Given the description of an element on the screen output the (x, y) to click on. 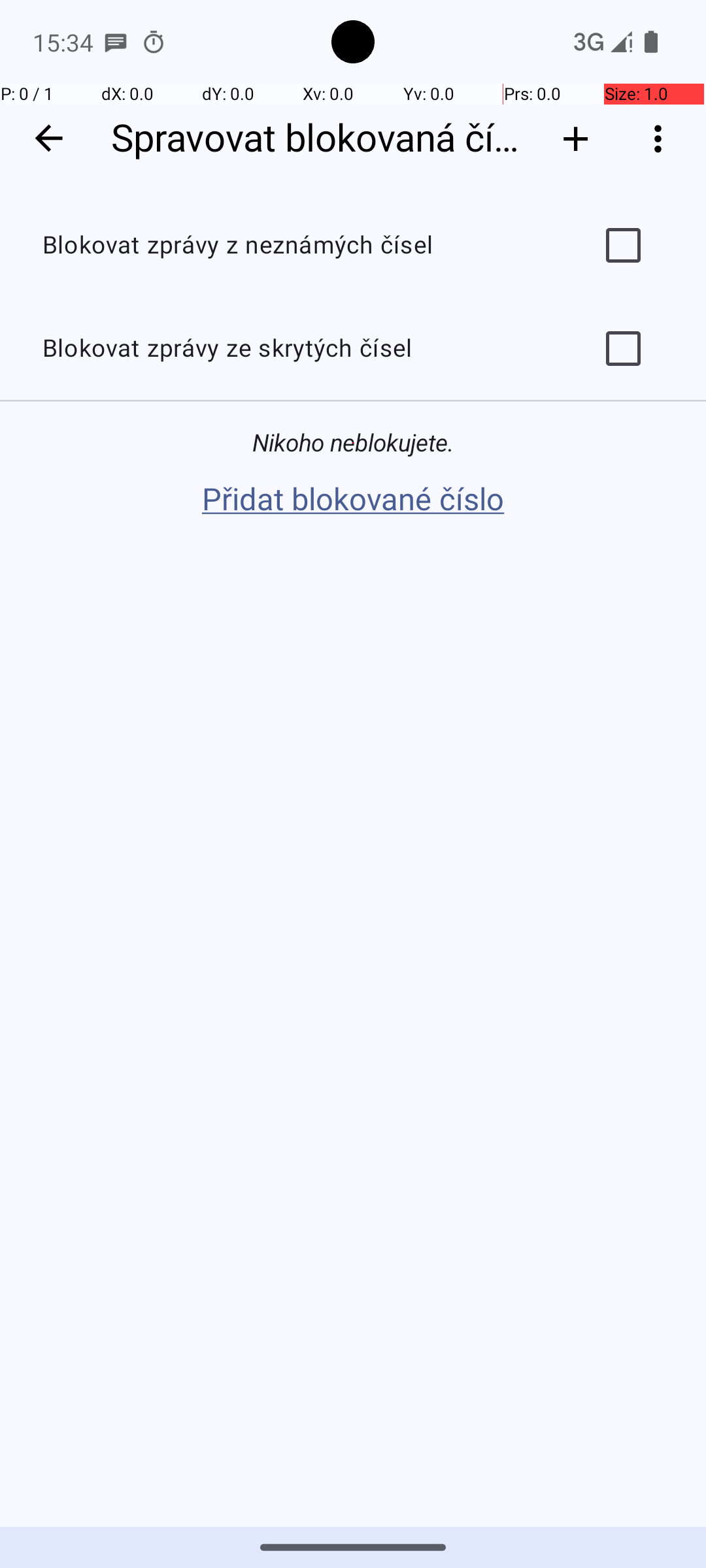
Nikoho neblokujete. Element type: android.widget.TextView (352, 443)
Spravovat blokovaná čísla Element type: android.widget.TextView (318, 138)
Blokovat zprávy z neznámých čísel Element type: android.widget.TextView (297, 244)
Blokovat zprávy ze skrytých čísel Element type: android.widget.TextView (297, 348)
Přidat blokované číslo Element type: android.widget.TextView (352, 499)
Zpět Element type: android.view.View (48, 137)
